Given the description of an element on the screen output the (x, y) to click on. 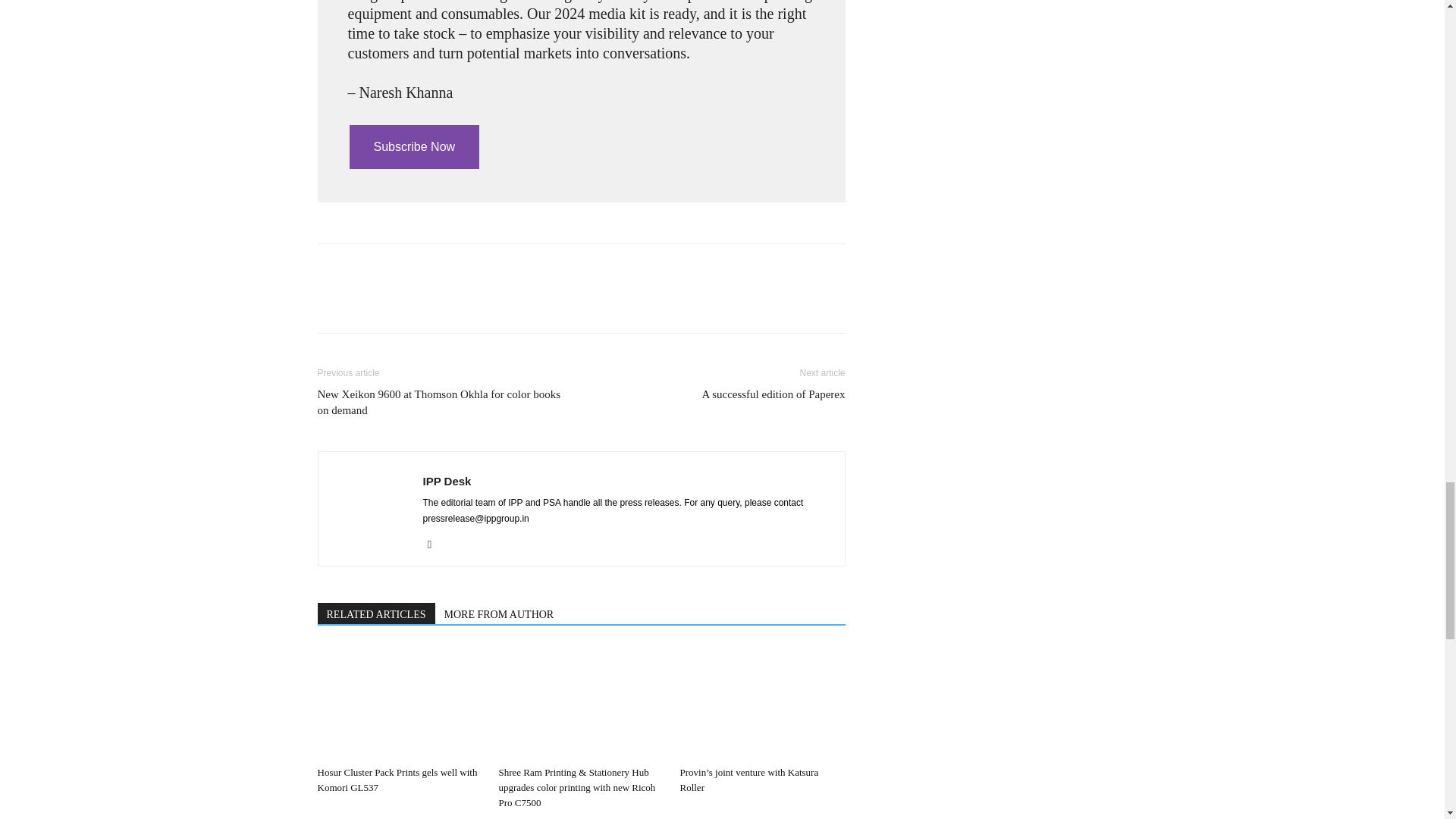
bottomFacebookLike (430, 268)
